Given the description of an element on the screen output the (x, y) to click on. 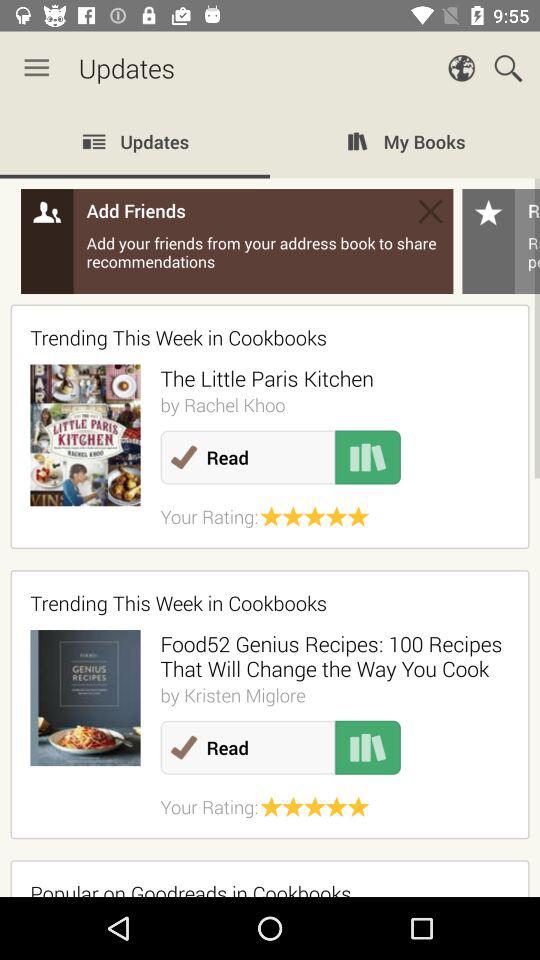
updates are here (270, 501)
